Given the description of an element on the screen output the (x, y) to click on. 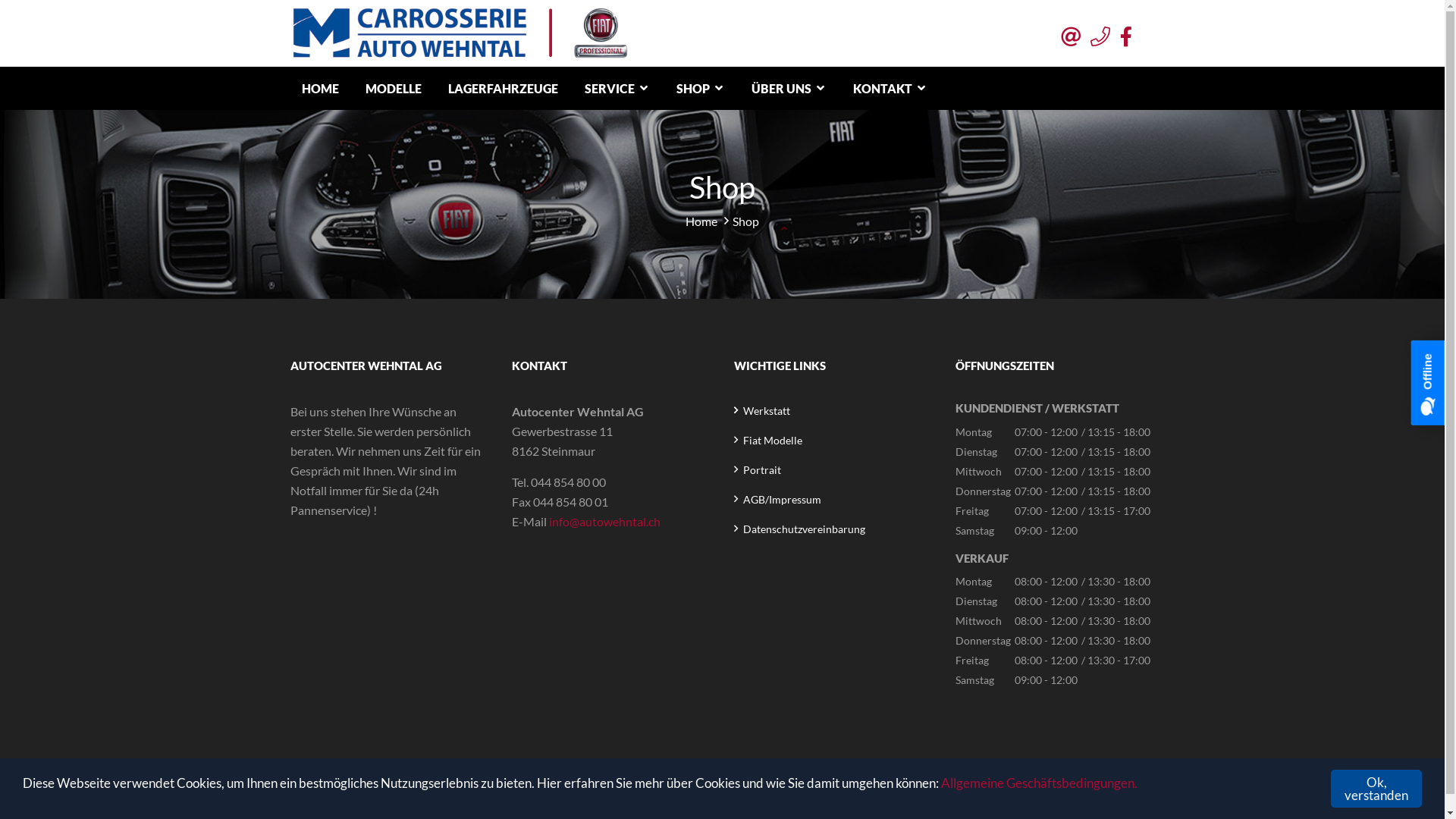
SHOP Element type: text (699, 85)
Home Element type: text (701, 220)
info@autowehntal.ch Element type: text (604, 521)
LAGERFAHRZEUGE Element type: text (502, 87)
Datenschutzvereinbarung Element type: text (804, 528)
MODELLE Element type: text (392, 87)
Fiat Modelle Element type: text (772, 439)
KONTAKT Element type: text (889, 85)
Portrait Element type: text (762, 469)
Ok, verstanden Element type: text (1375, 788)
a-Commerce AG Element type: text (779, 801)
WICHTIGE LINKS Element type: text (833, 365)
SERVICE Element type: text (617, 85)
AGB/Impressum Element type: text (782, 498)
HOME Element type: text (319, 87)
Werkstatt Element type: text (766, 410)
